Given the description of an element on the screen output the (x, y) to click on. 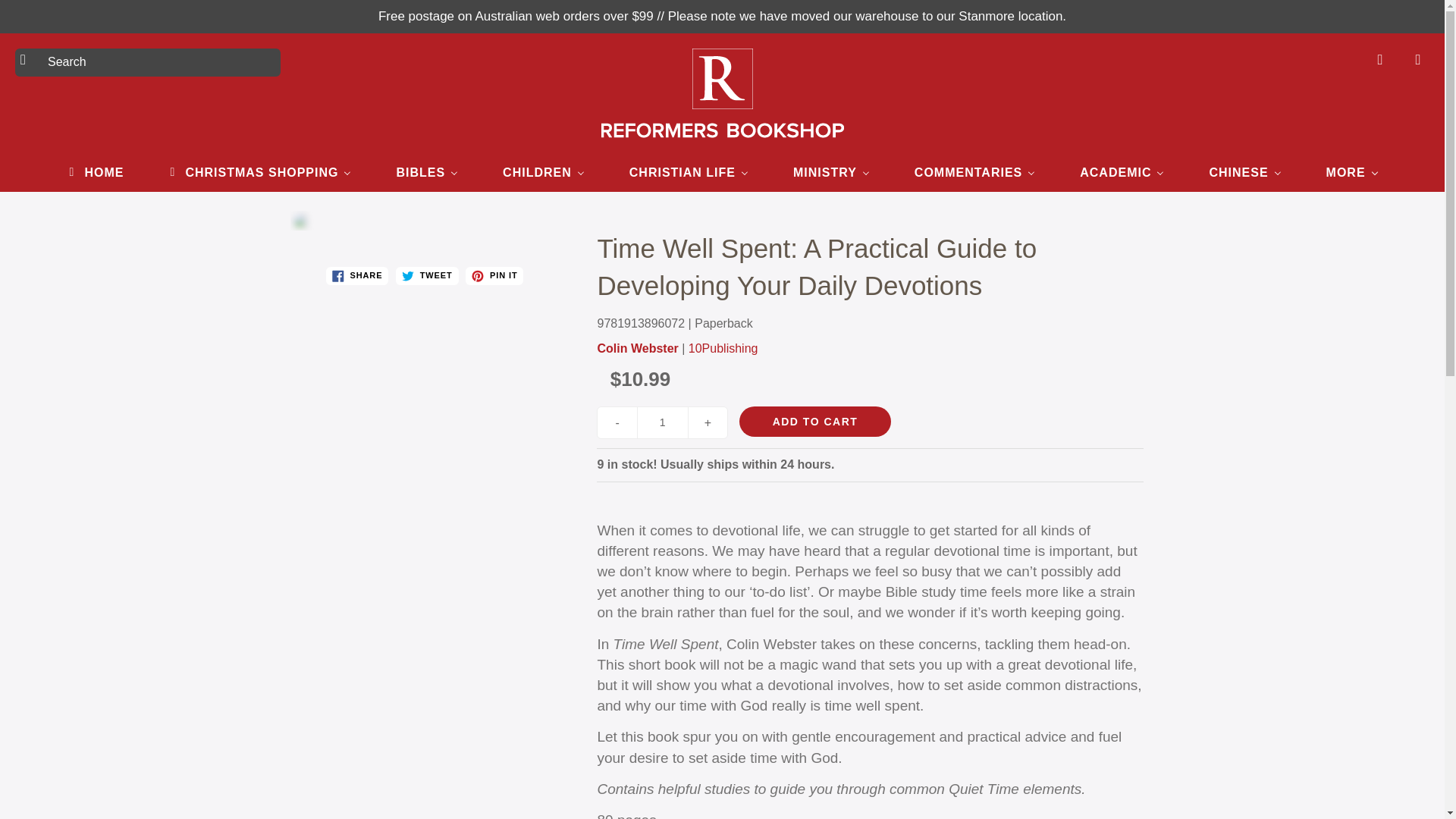
You have 0 items in your cart (1417, 59)
My account (1379, 59)
Search (28, 59)
CHRISTMAS SHOPPING (259, 172)
BIBLES (427, 172)
HOME (93, 172)
1 (662, 422)
